Given the description of an element on the screen output the (x, y) to click on. 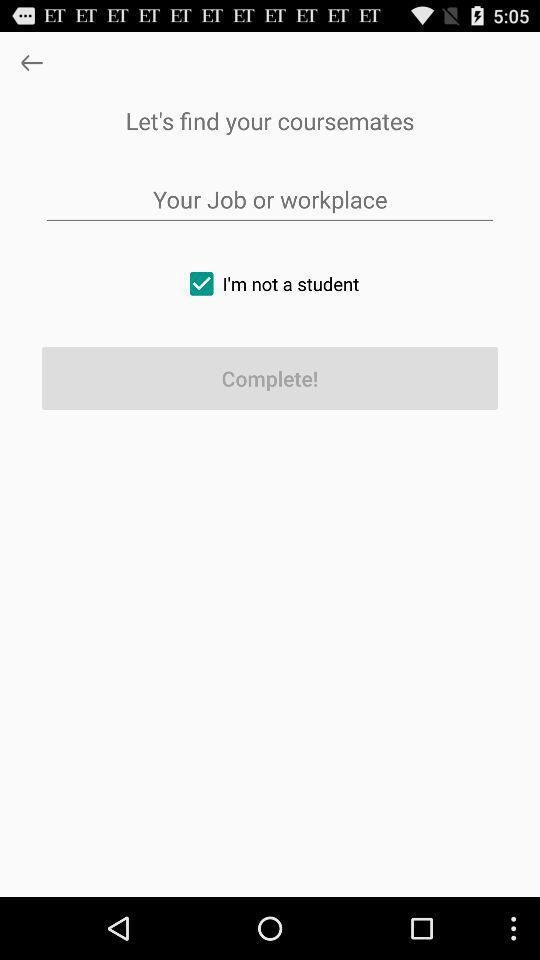
enter job or workplace (270, 199)
